Given the description of an element on the screen output the (x, y) to click on. 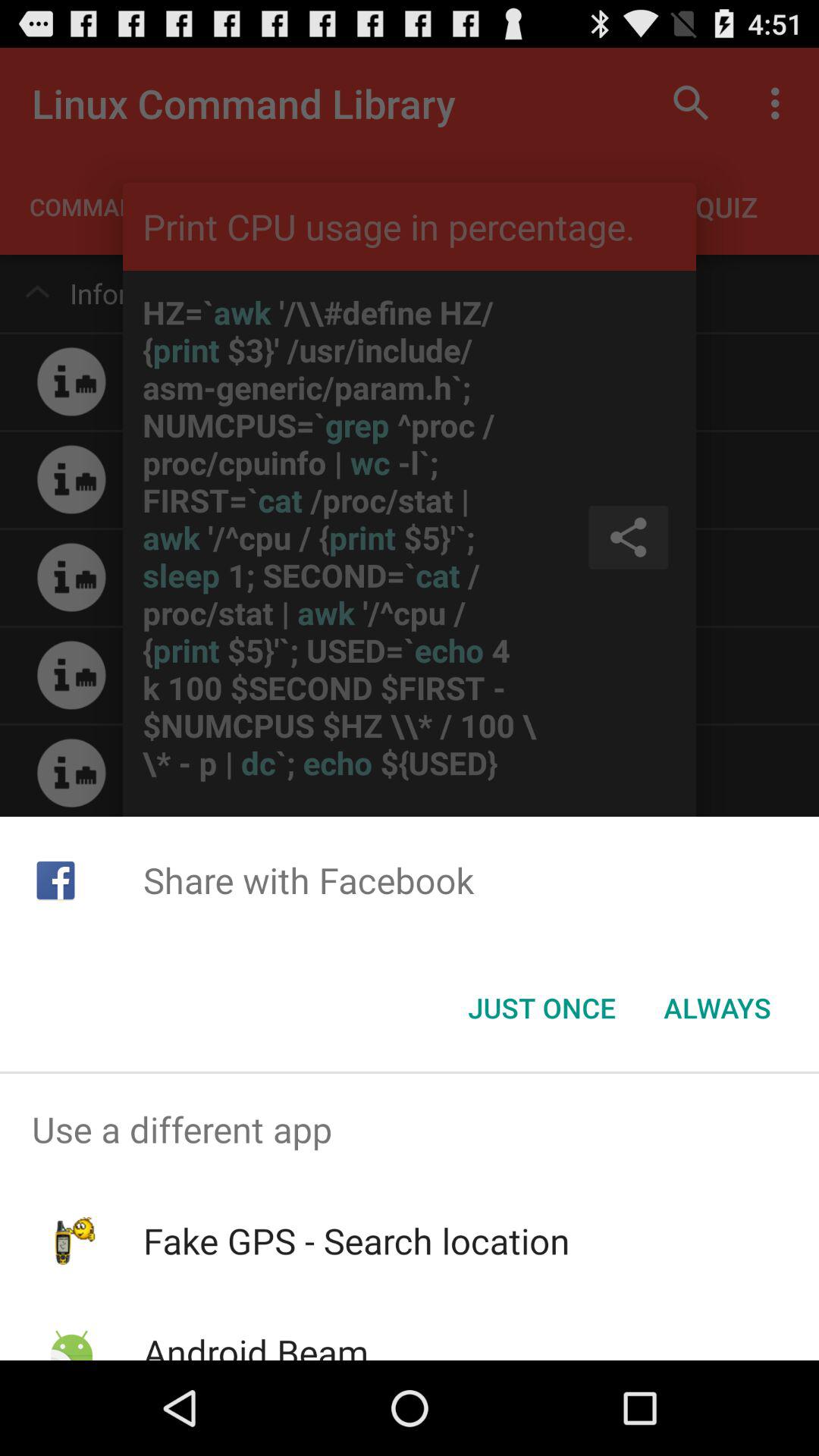
choose just once button (541, 1007)
